Given the description of an element on the screen output the (x, y) to click on. 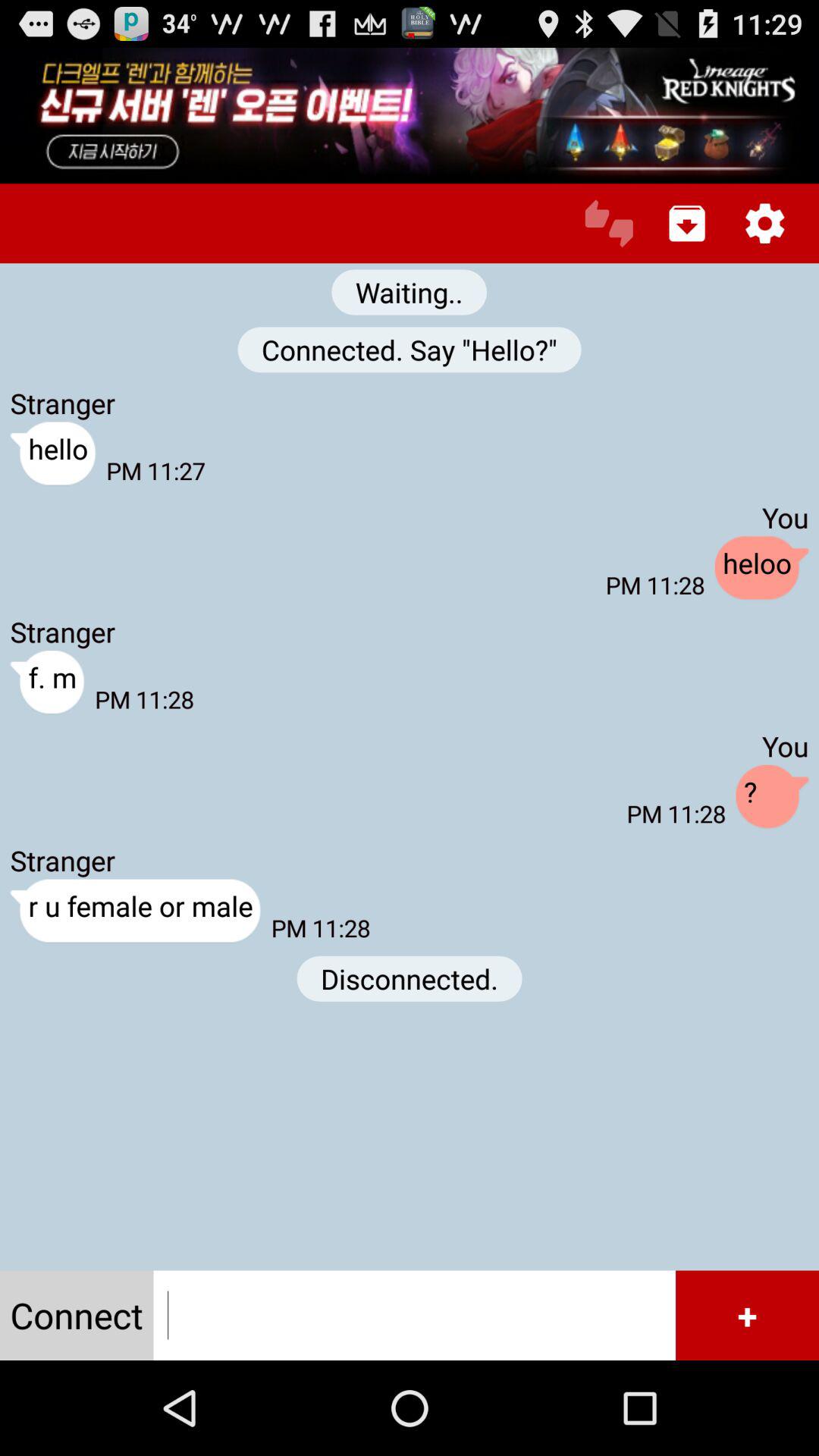
download chat (686, 223)
